Given the description of an element on the screen output the (x, y) to click on. 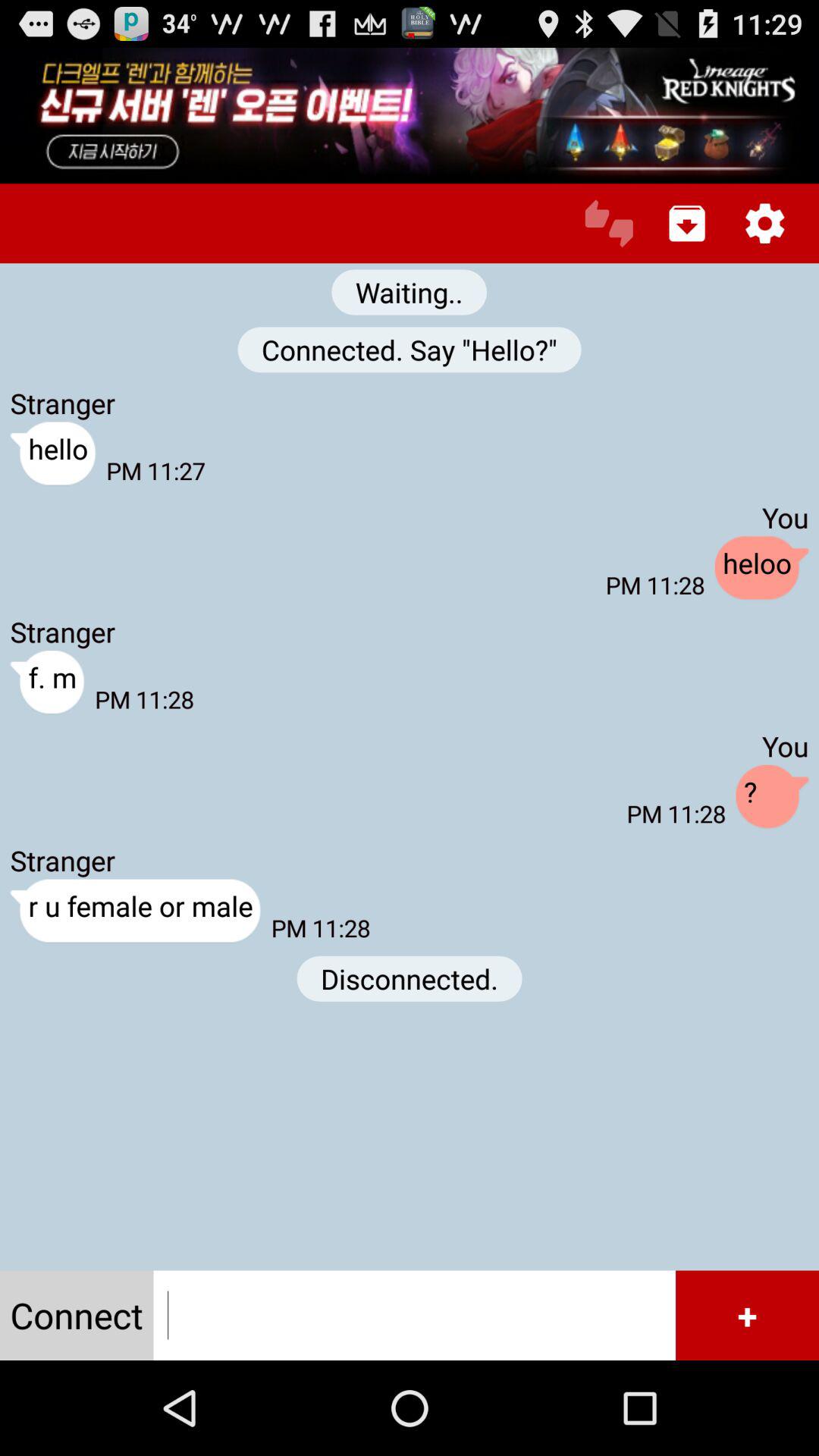
download chat (686, 223)
